Given the description of an element on the screen output the (x, y) to click on. 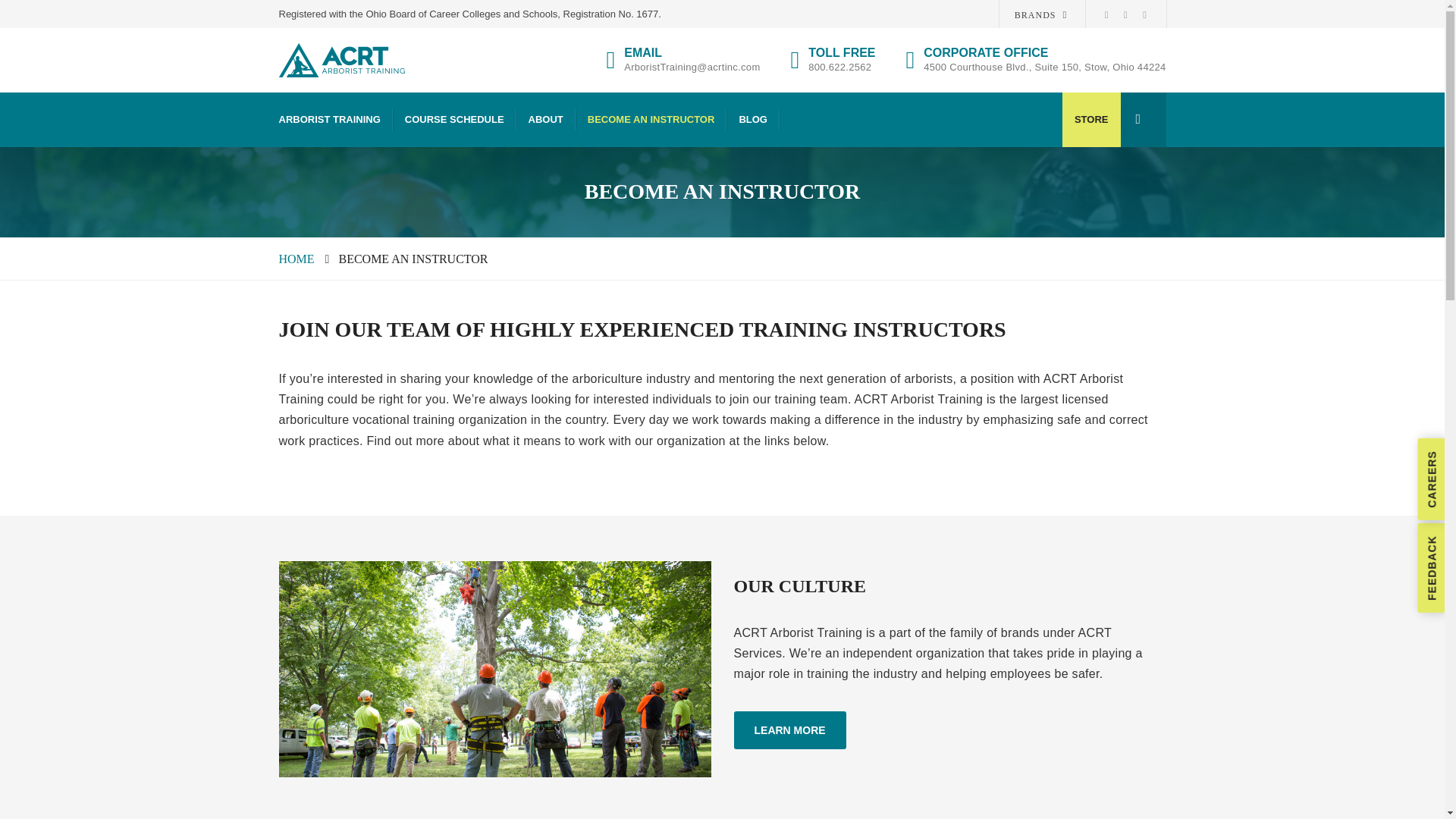
Our Culture (789, 730)
EMAIL (692, 52)
BRANDS (1040, 14)
4500 Courthouse Blvd., Suite 150, Stow, Ohio 44224 (1044, 66)
TOLL FREE (841, 52)
our culture (495, 669)
800.622.2562 (839, 66)
CORPORATE OFFICE (1044, 52)
